Given the description of an element on the screen output the (x, y) to click on. 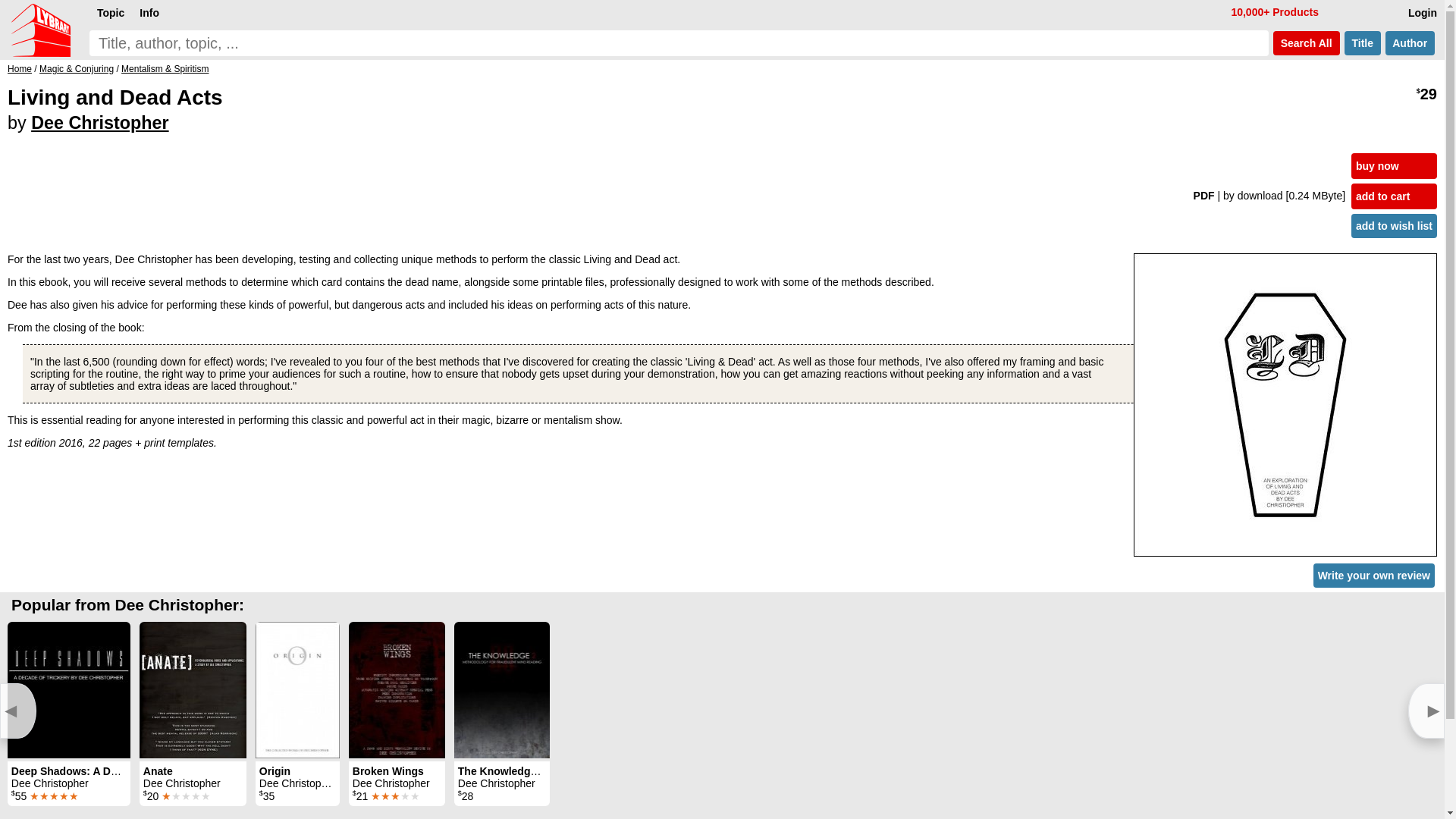
Write your own review (1373, 575)
 Title  (1361, 43)
Dee Christopher (99, 122)
 Author  (1410, 43)
add to wish list (1394, 225)
Home (19, 68)
 Search All  (1305, 43)
buy now (1394, 166)
add to cart (1394, 196)
